Given the description of an element on the screen output the (x, y) to click on. 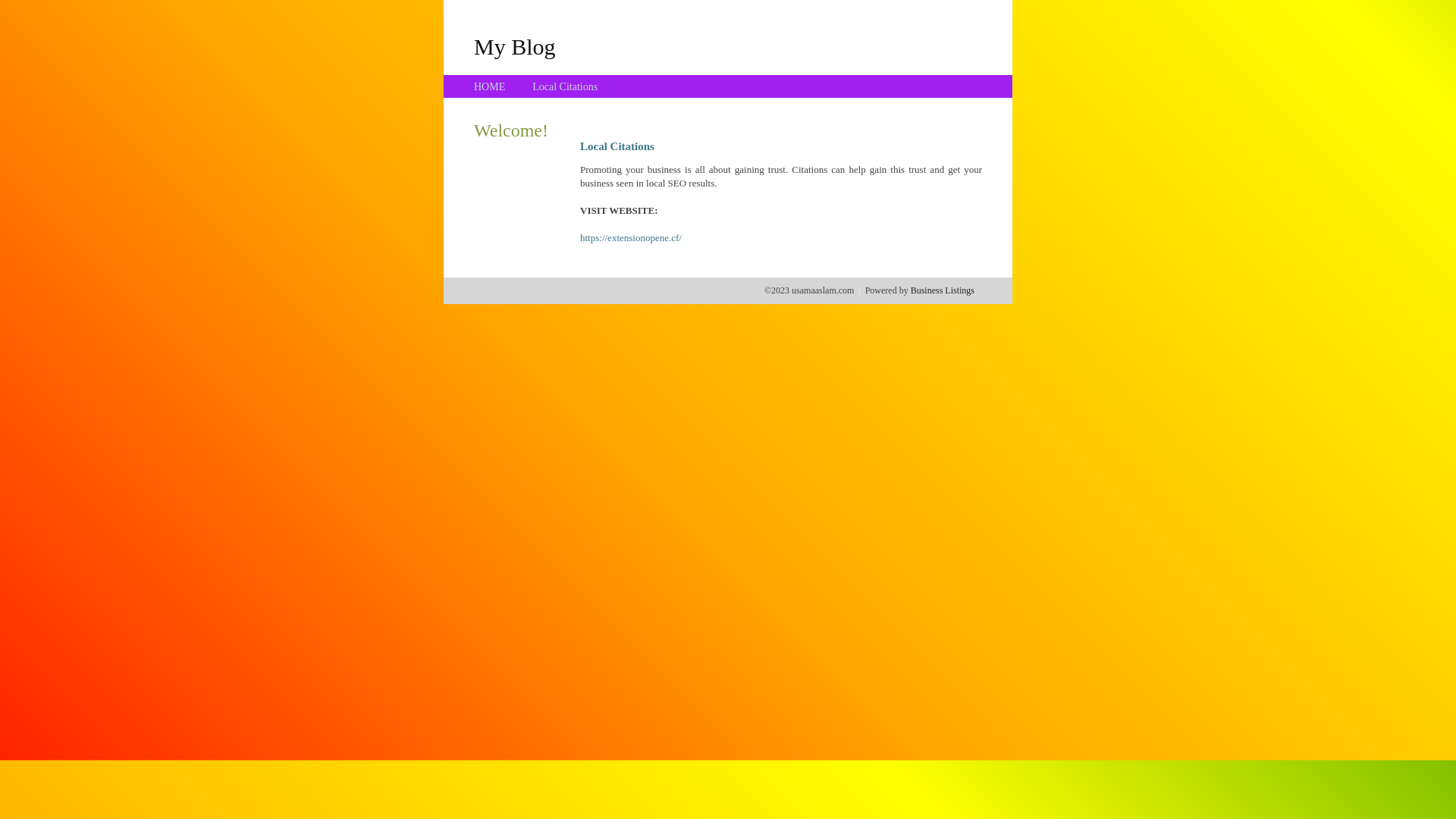
HOME Element type: text (489, 86)
Local Citations Element type: text (564, 86)
Business Listings Element type: text (942, 290)
My Blog Element type: text (514, 46)
https://extensionopene.cf/ Element type: text (630, 237)
